Given the description of an element on the screen output the (x, y) to click on. 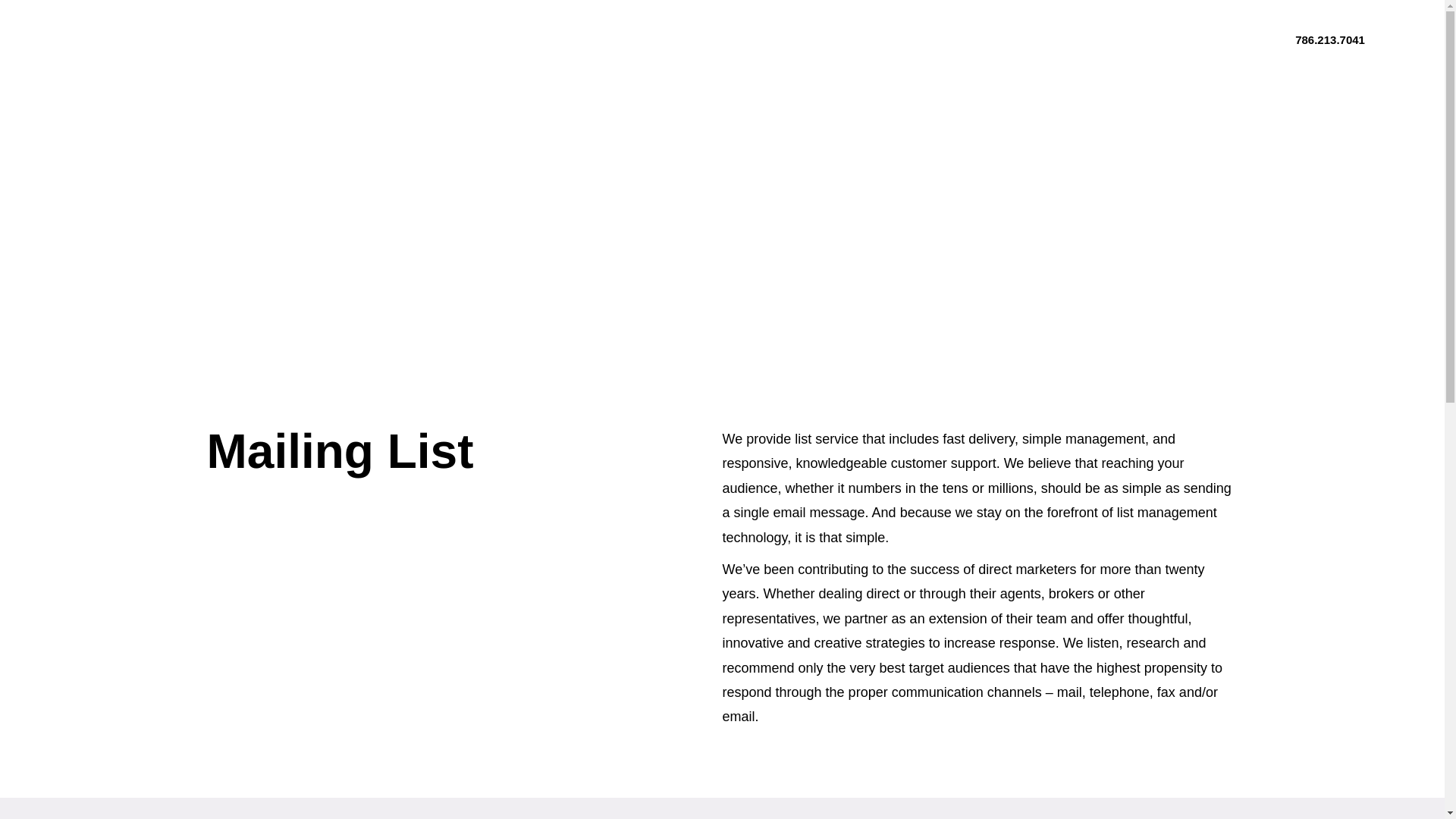
1212lincolnrd Element type: hover (124, 35)
MARKETING Element type: text (765, 37)
CONTACT Element type: text (1214, 39)
WEB DESIGN Element type: text (668, 37)
PHOTOGRAPHY Element type: text (870, 37)
786.213.7041 Element type: text (1329, 39)
COMPANY Element type: text (576, 37)
